Given the description of an element on the screen output the (x, y) to click on. 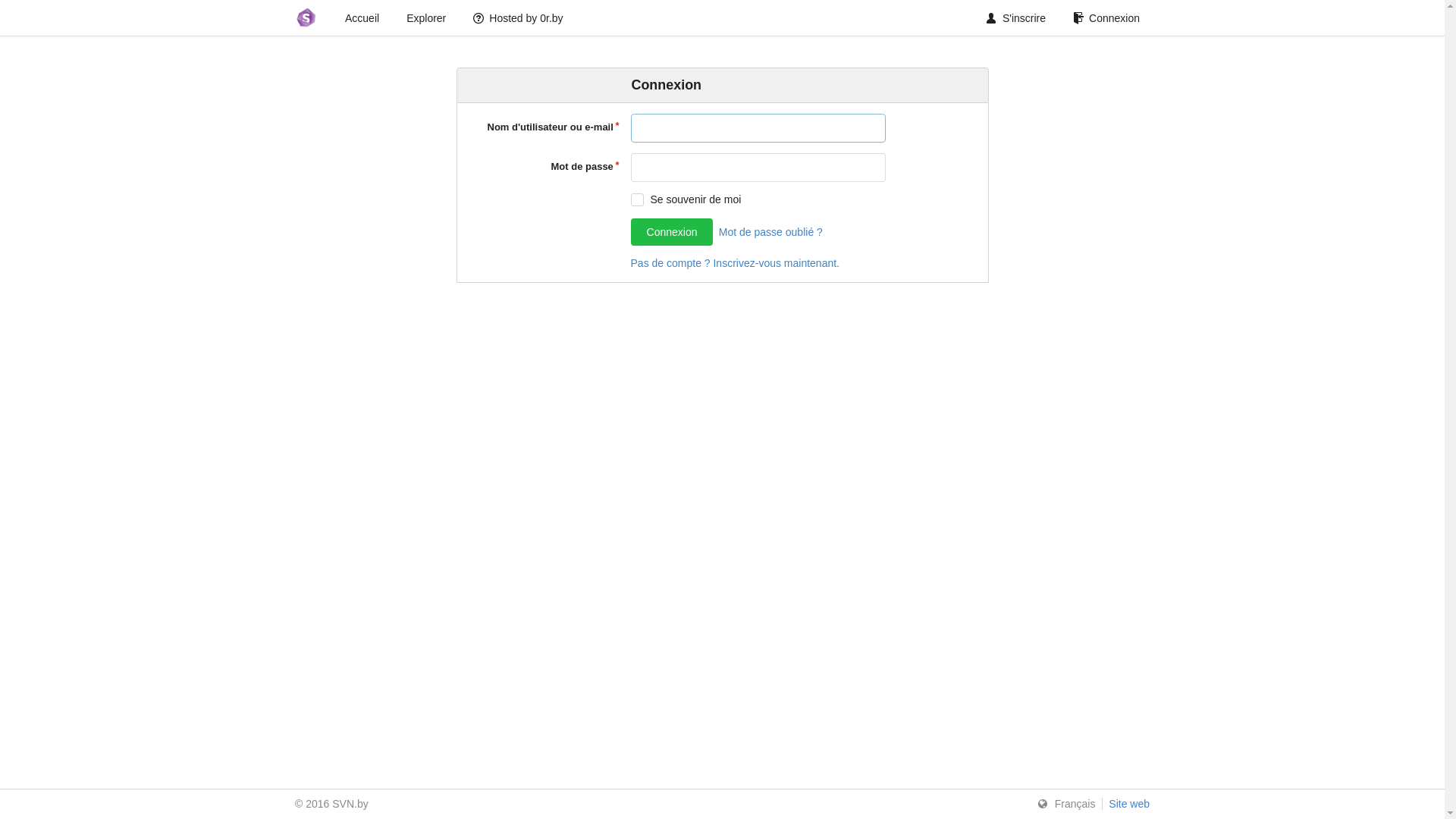
Connexion Element type: text (671, 231)
Site web Element type: text (1125, 803)
Pas de compte ? Inscrivez-vous maintenant. Element type: text (734, 263)
Explorer Element type: text (425, 17)
Connexion Element type: text (1106, 17)
Accueil Element type: text (362, 17)
S'inscrire Element type: text (1015, 17)
Hosted by 0r.by Element type: text (517, 17)
